Given the description of an element on the screen output the (x, y) to click on. 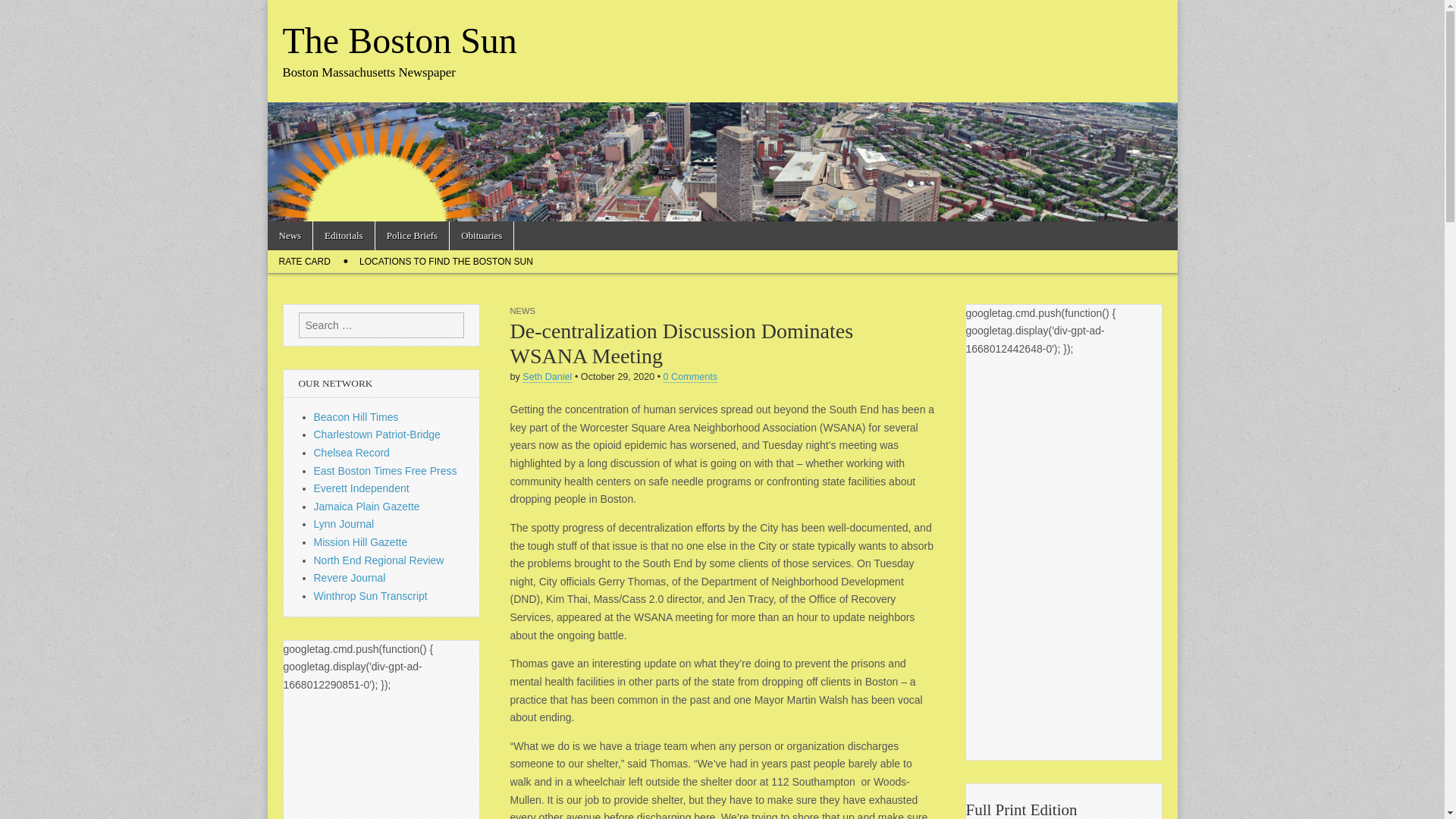
NEWS (522, 310)
The Boston Sun (399, 40)
Search (23, 12)
Mission Hill Gazette (360, 541)
Everett Independent (361, 488)
0 Comments (690, 377)
Obituaries (481, 235)
Charlestown Patriot-Bridge (377, 434)
Lynn Journal (344, 523)
RATE CARD (303, 261)
Seth Daniel (547, 377)
Police Briefs (412, 235)
Chelsea Record (352, 452)
Editorials (343, 235)
Posts by Seth Daniel (547, 377)
